Given the description of an element on the screen output the (x, y) to click on. 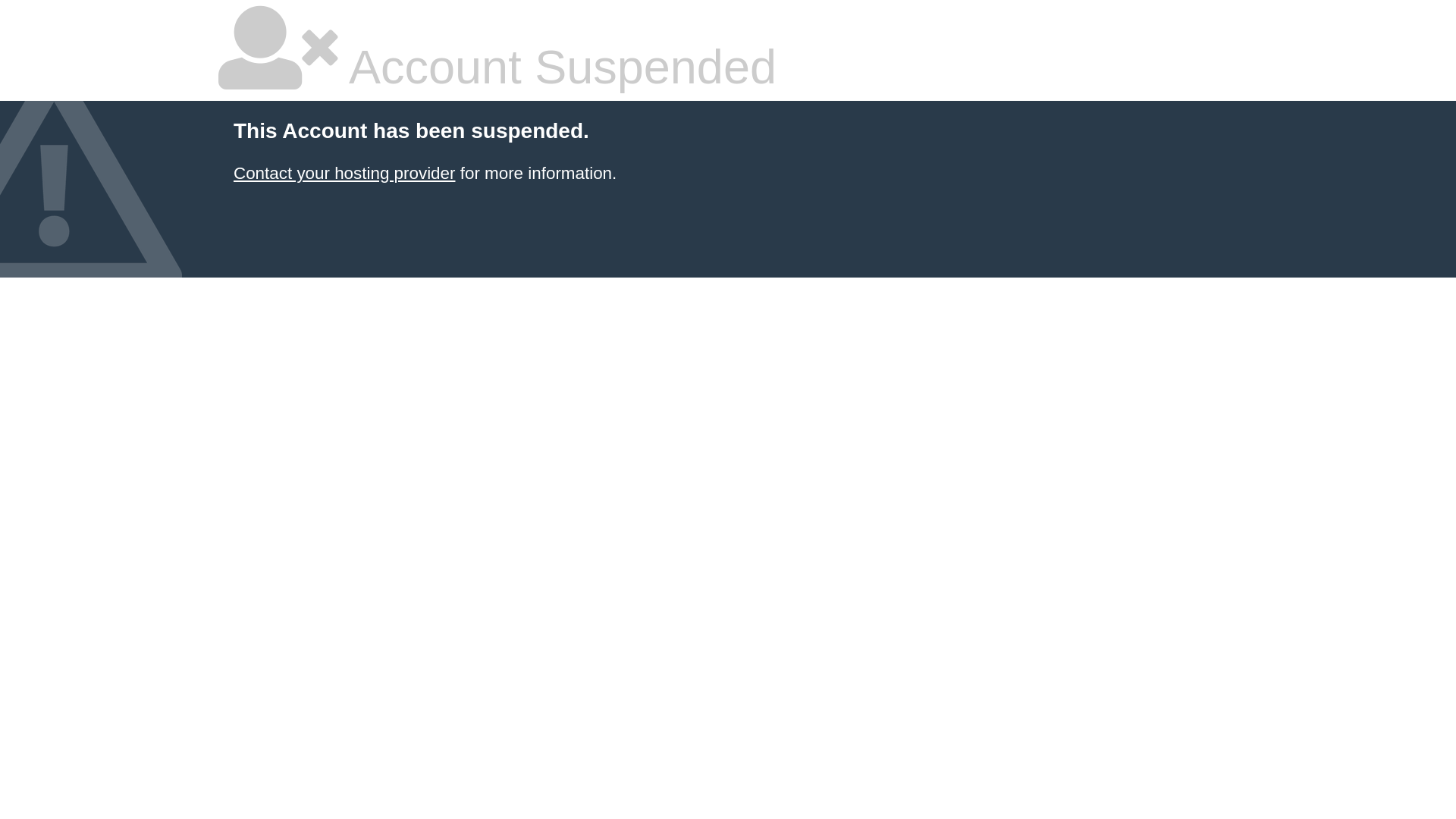
Contact your hosting provider Element type: text (344, 172)
